Given the description of an element on the screen output the (x, y) to click on. 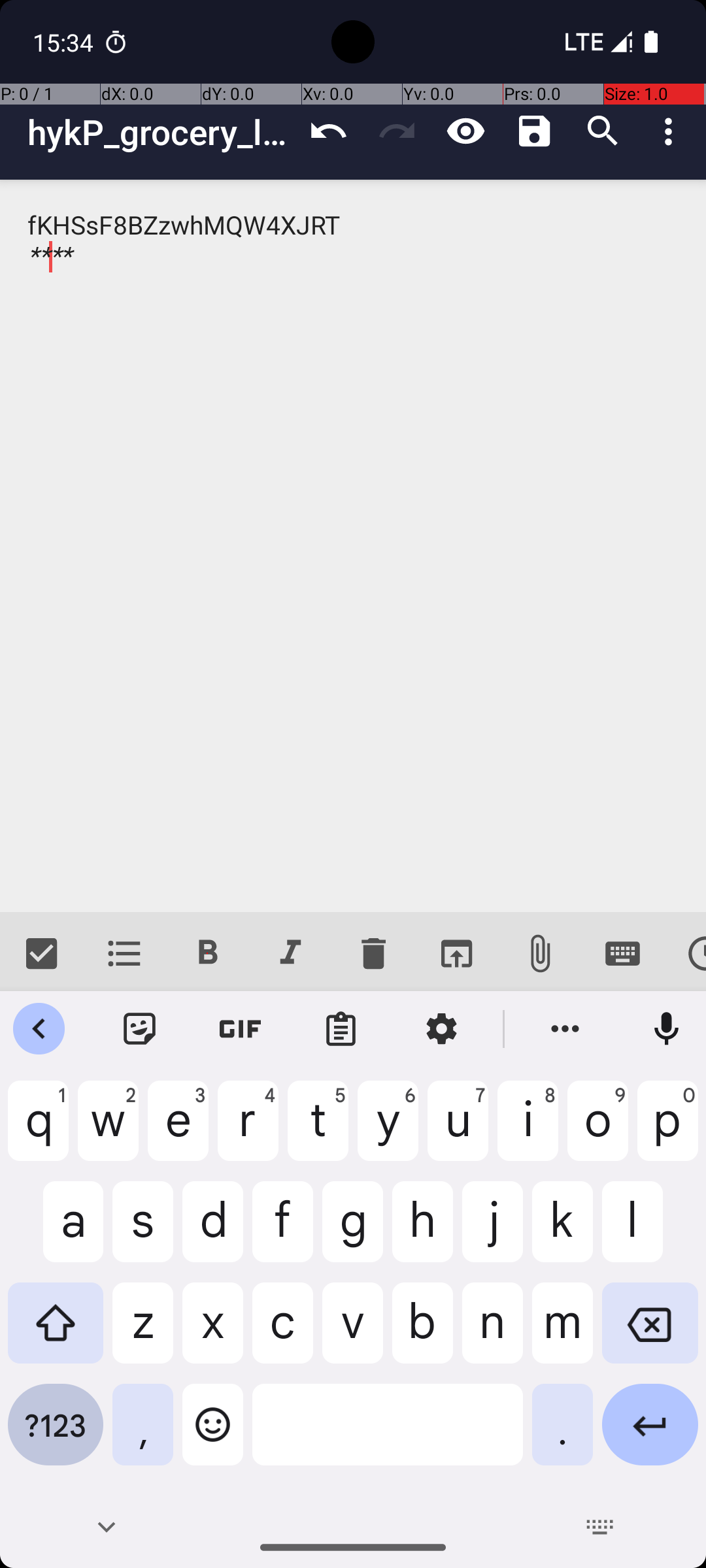
hykP_grocery_list_weekly Element type: android.widget.TextView (160, 131)
fKHSsF8BZzwhMQW4XJRT
**** Element type: android.widget.EditText (353, 545)
